Given the description of an element on the screen output the (x, y) to click on. 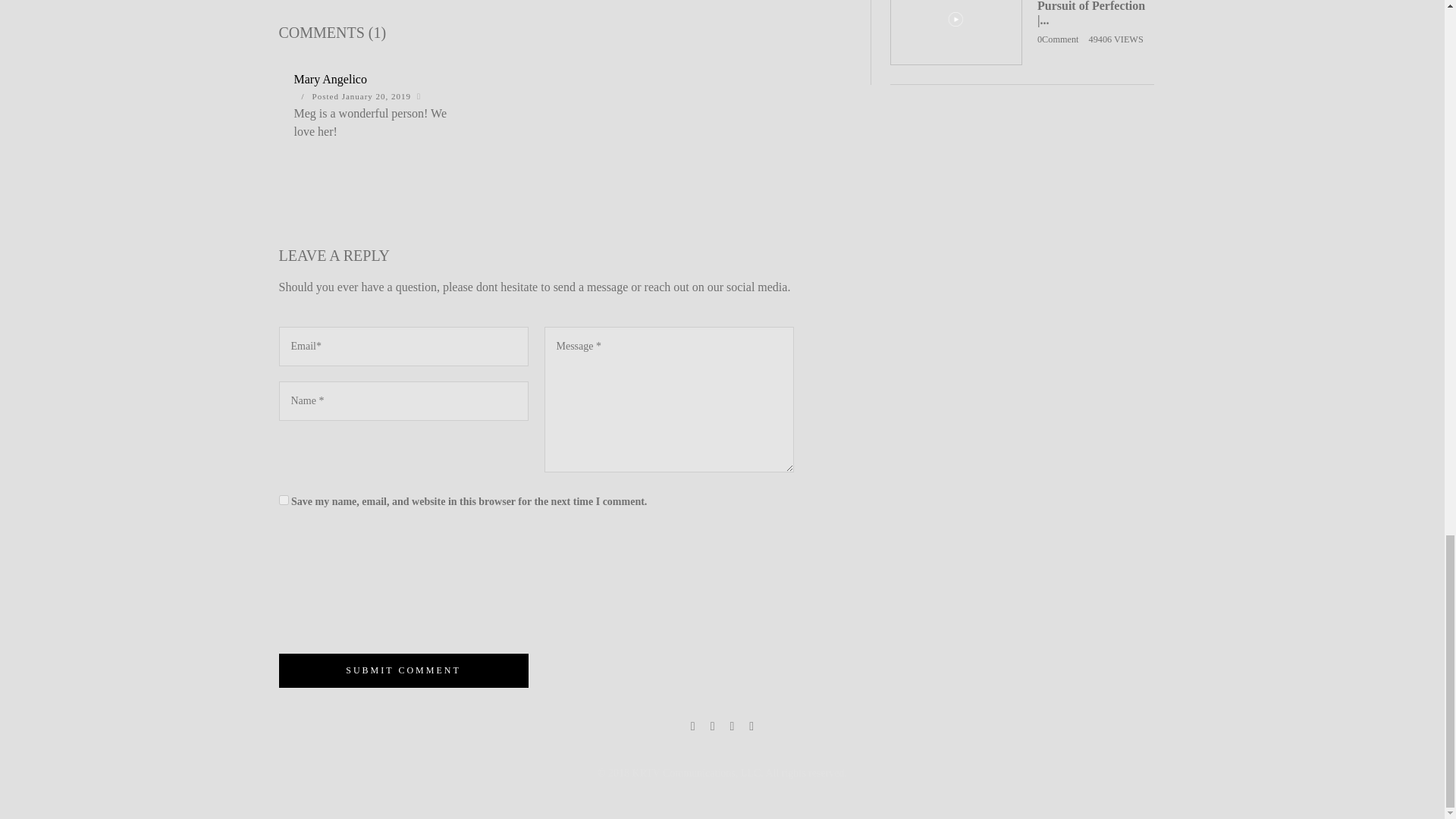
Submit comment (403, 670)
Submit comment (403, 670)
yes (283, 500)
